Given the description of an element on the screen output the (x, y) to click on. 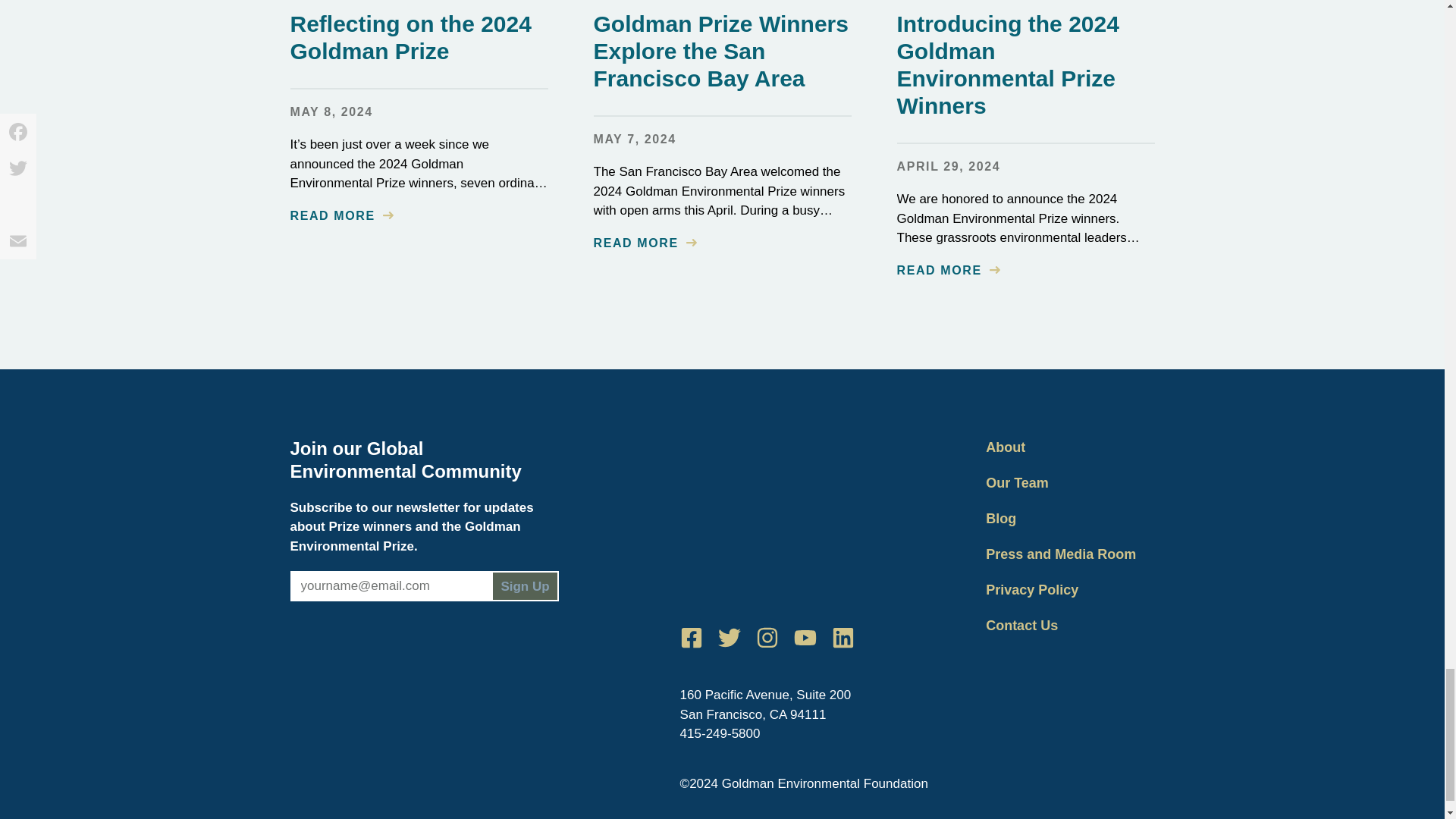
Goldman Prize Winners Explore the San Francisco Bay Area (719, 50)
READ MORE (643, 242)
READ MORE (947, 270)
Sign Up (524, 585)
Introducing the 2024 Goldman Environmental Prize Winners (1007, 64)
Sign Up (524, 585)
Reflecting on the 2024 Goldman Prize (410, 37)
READ MORE (341, 215)
